Given the description of an element on the screen output the (x, y) to click on. 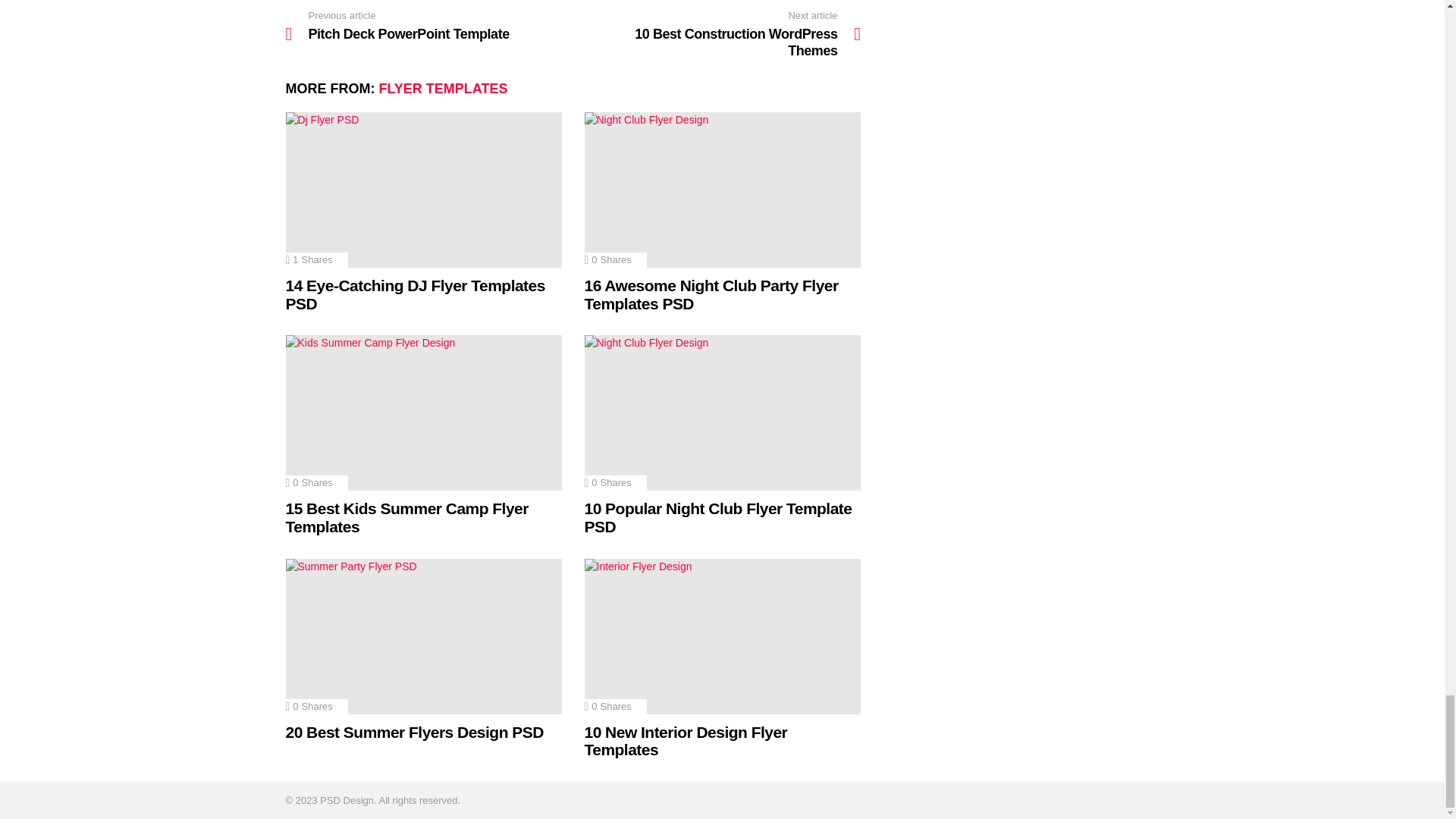
16 Awesome Night Club Party Flyer Templates PSD (721, 189)
10 Popular Night Club Flyer Template PSD (721, 412)
20 Best Summer Flyers Design PSD (422, 636)
15 Best Kids Summer Camp Flyer Templates (422, 412)
10 New Interior Design Flyer Templates (721, 636)
14 Eye-Catching DJ Flyer Templates PSD (422, 189)
